Given the description of an element on the screen output the (x, y) to click on. 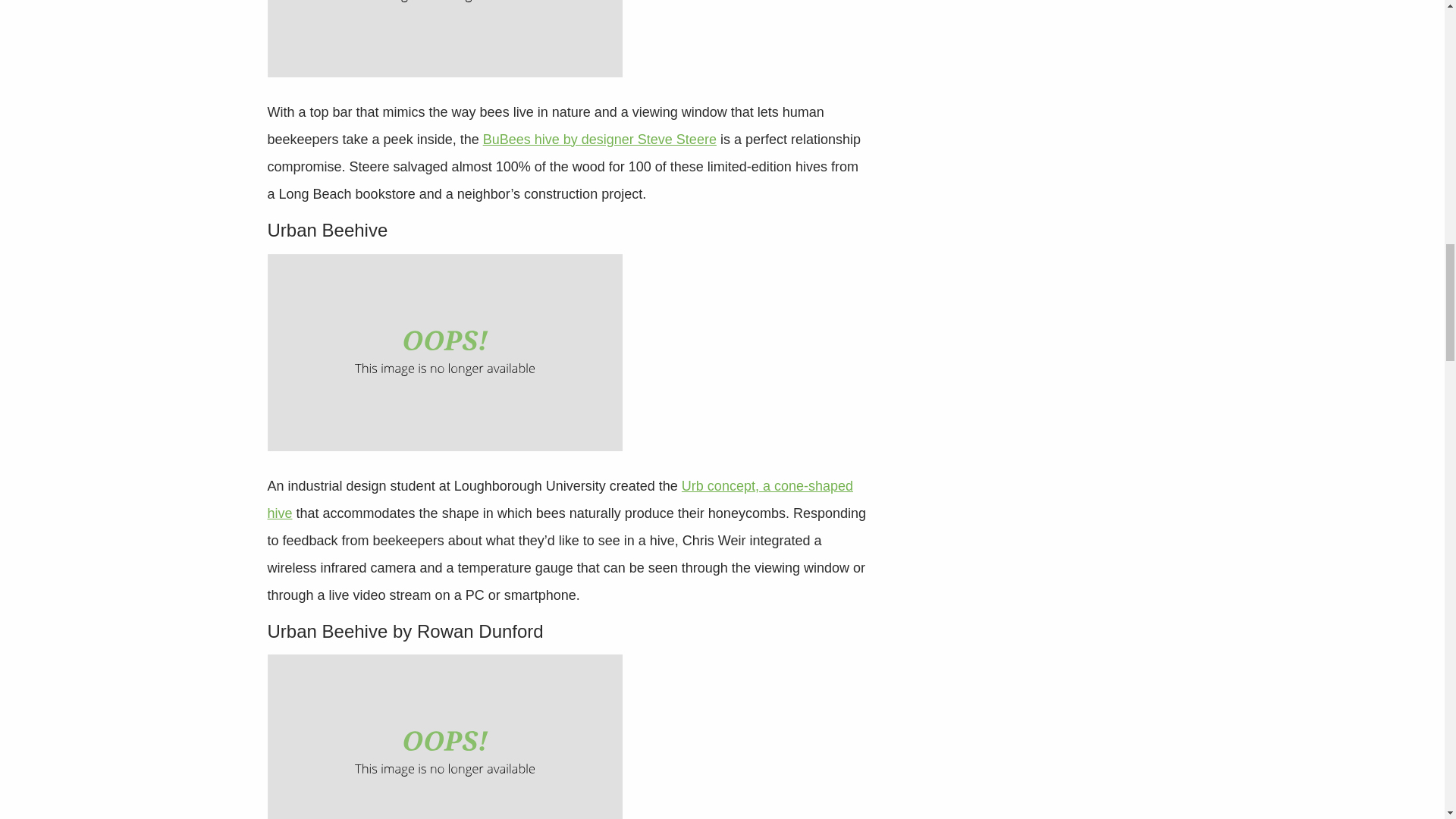
BuBees hive by designer Steve Steere (599, 139)
Beehive Design Dunford (443, 736)
Urb concept, a cone-shaped hive (559, 499)
Beehive Design Bubees (443, 38)
Beehive Designs Urb (443, 352)
